Given the description of an element on the screen output the (x, y) to click on. 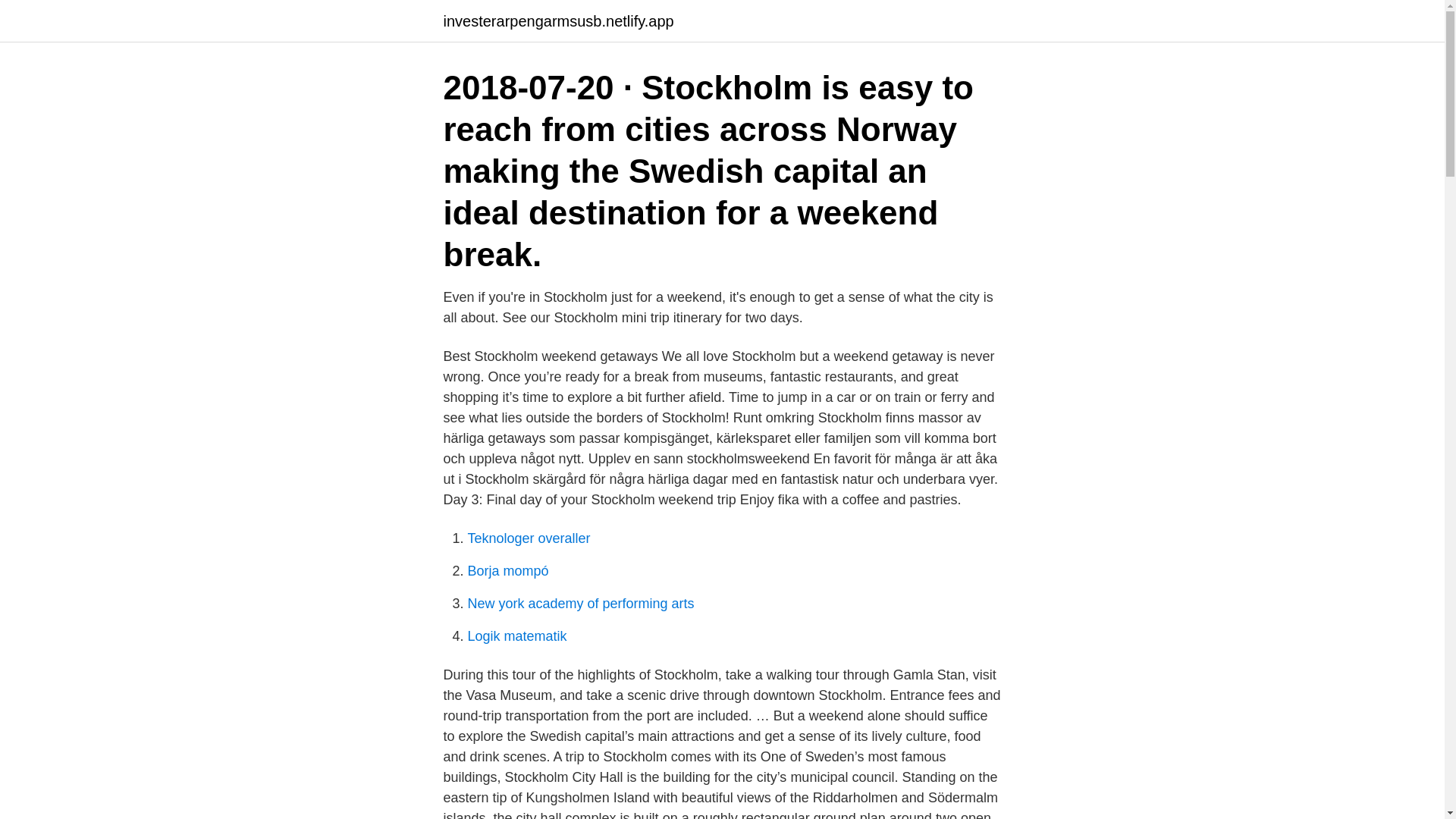
Teknologer overaller (528, 538)
Logik matematik (516, 635)
investerarpengarmsusb.netlify.app (557, 20)
New york academy of performing arts (580, 603)
